Given the description of an element on the screen output the (x, y) to click on. 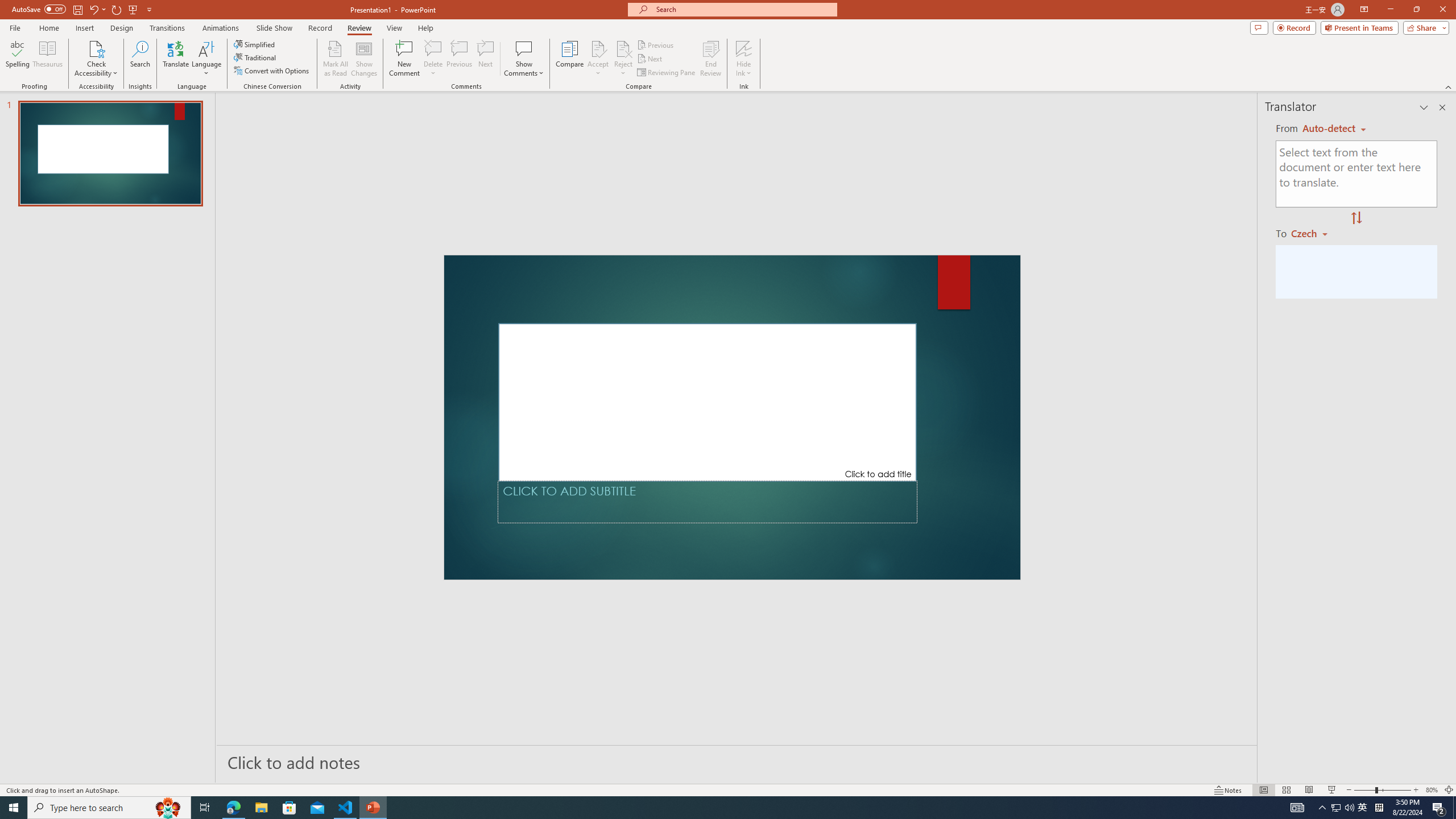
Accept (598, 58)
Convert with Options... (272, 69)
End Review (710, 58)
